Given the description of an element on the screen output the (x, y) to click on. 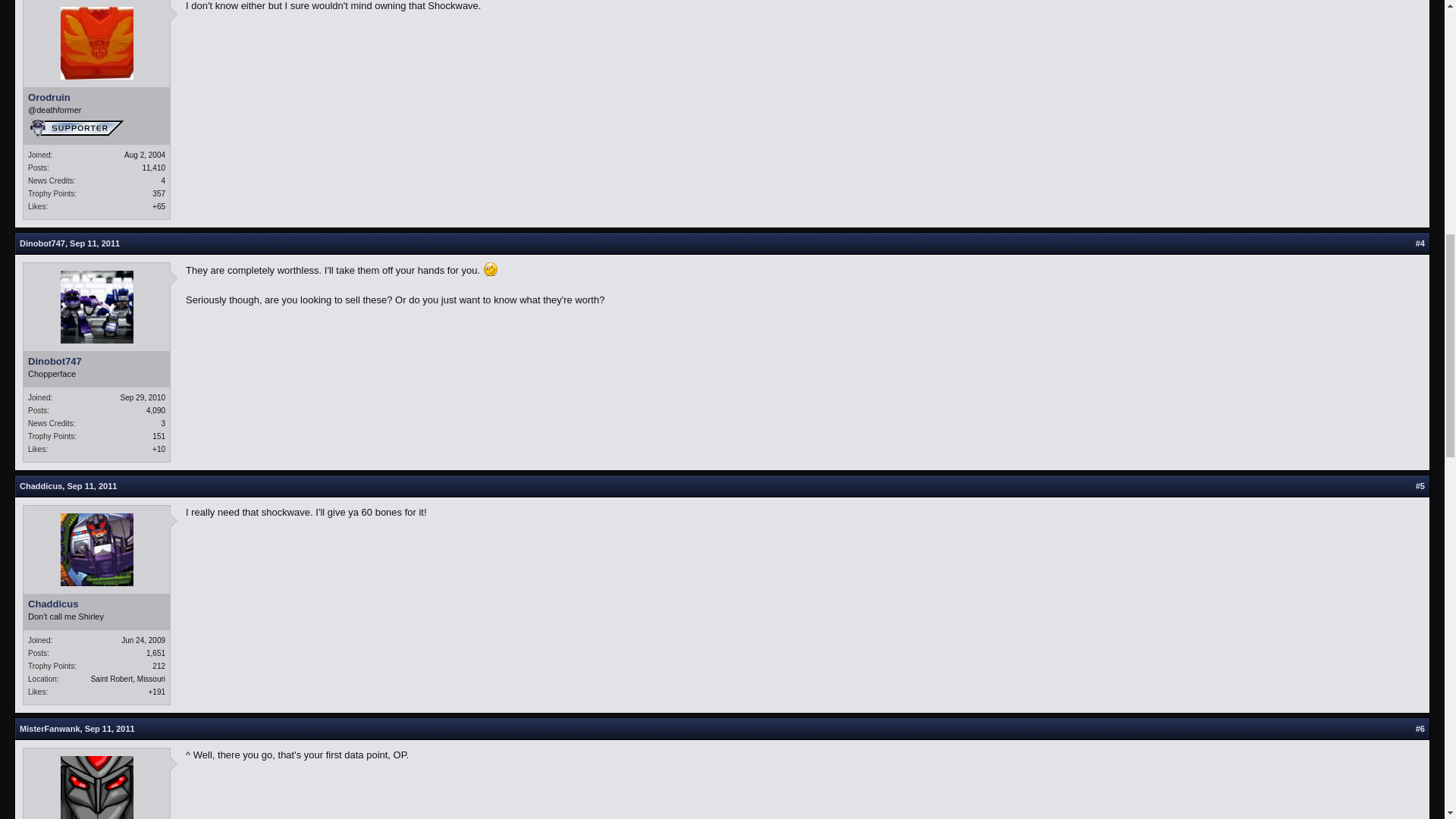
Orodruin (96, 97)
Permalink (91, 485)
Dinobot747 (42, 243)
11,410 (153, 167)
Sep 11, 2011 (94, 243)
Permalink (94, 243)
357 (158, 193)
